Given the description of an element on the screen output the (x, y) to click on. 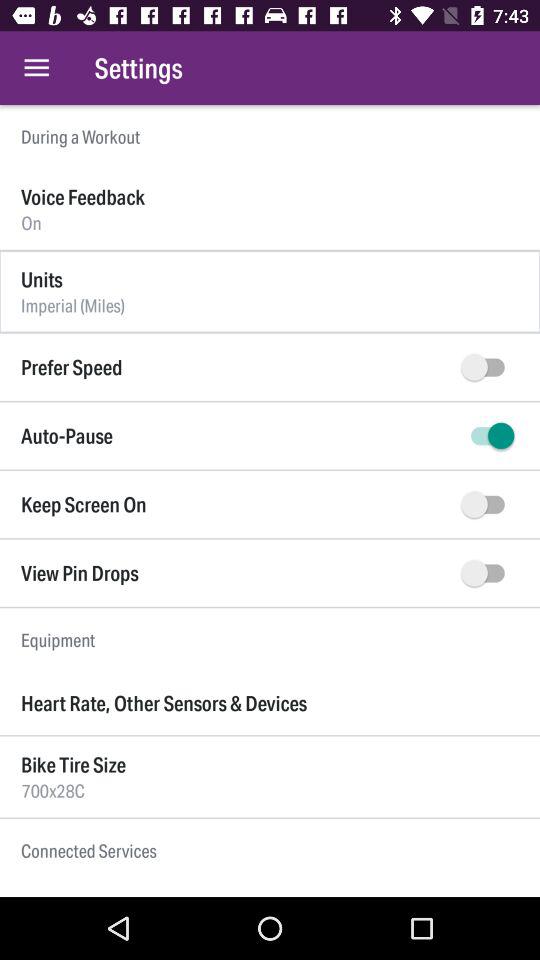
turn on prefer speed (487, 367)
